Given the description of an element on the screen output the (x, y) to click on. 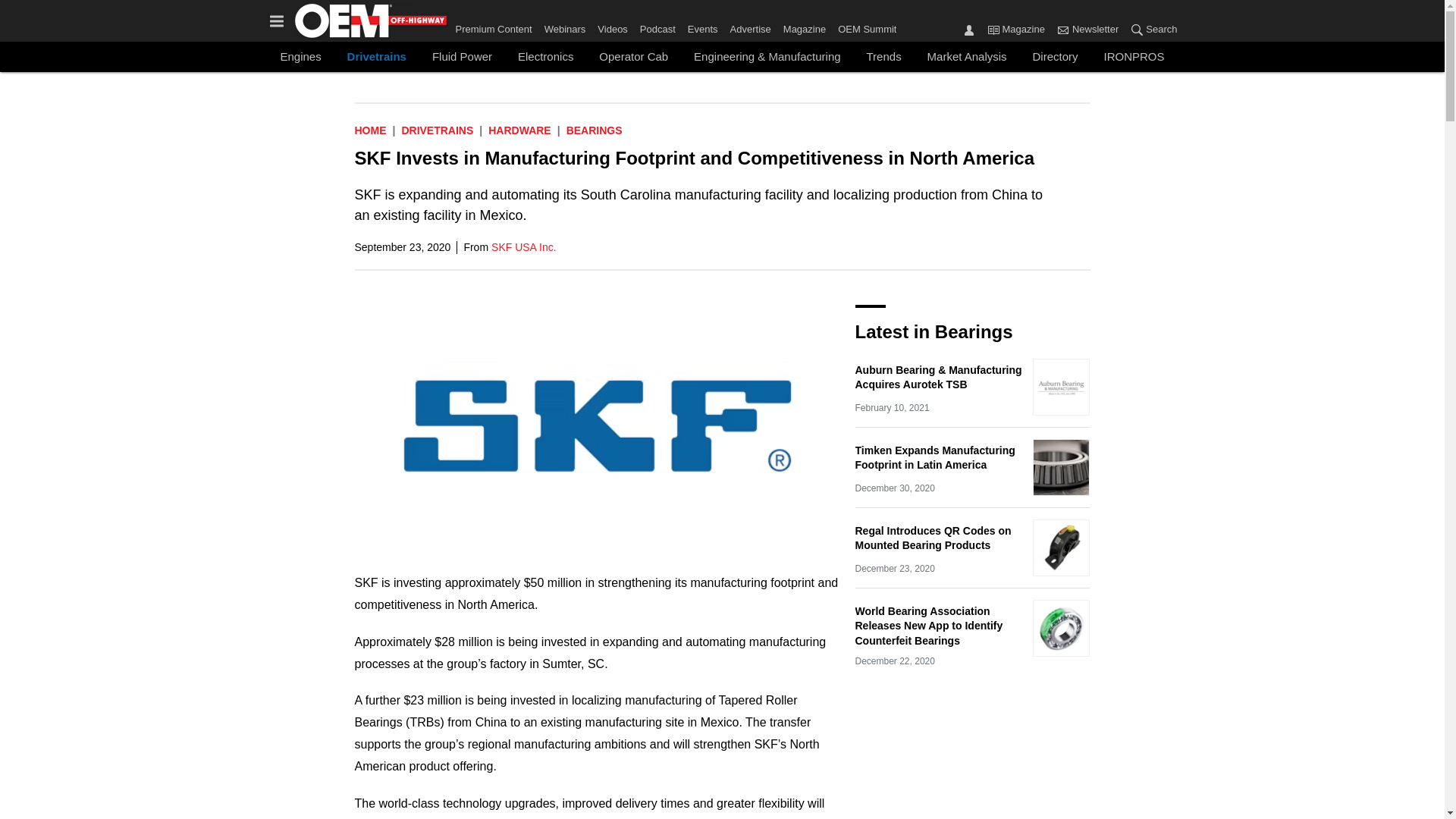
Operator Cab (633, 56)
Search (1136, 29)
Drivetrains (437, 130)
Directory (1055, 56)
Trends (884, 56)
Engines (300, 56)
Bearings (594, 130)
Webinars (565, 26)
Magazine (992, 29)
Podcast (657, 26)
Hardware (518, 130)
Search (1150, 29)
Magazine (804, 26)
Electronics (545, 56)
Videos (612, 26)
